Given the description of an element on the screen output the (x, y) to click on. 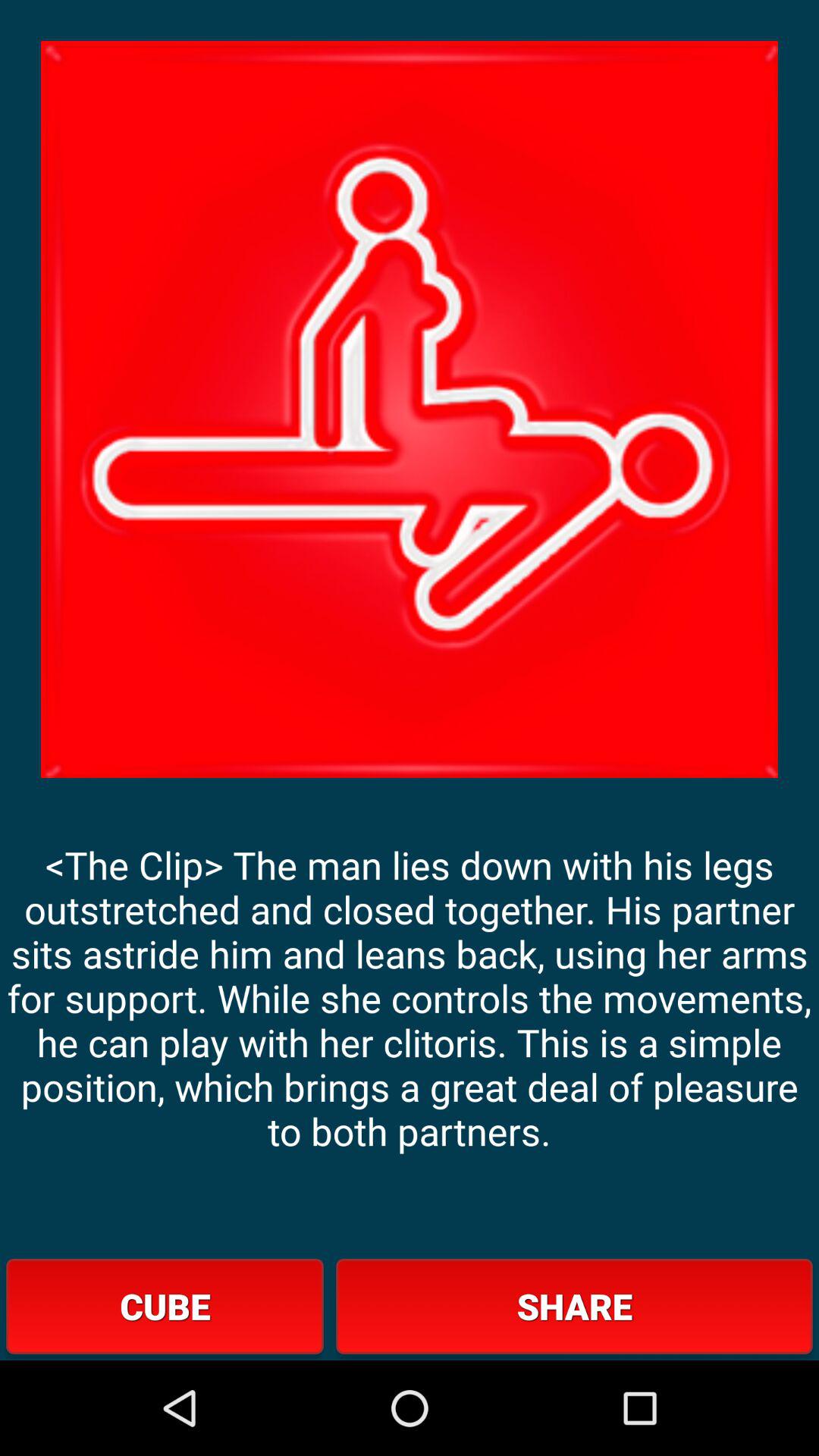
click icon below the the clip the app (574, 1306)
